Given the description of an element on the screen output the (x, y) to click on. 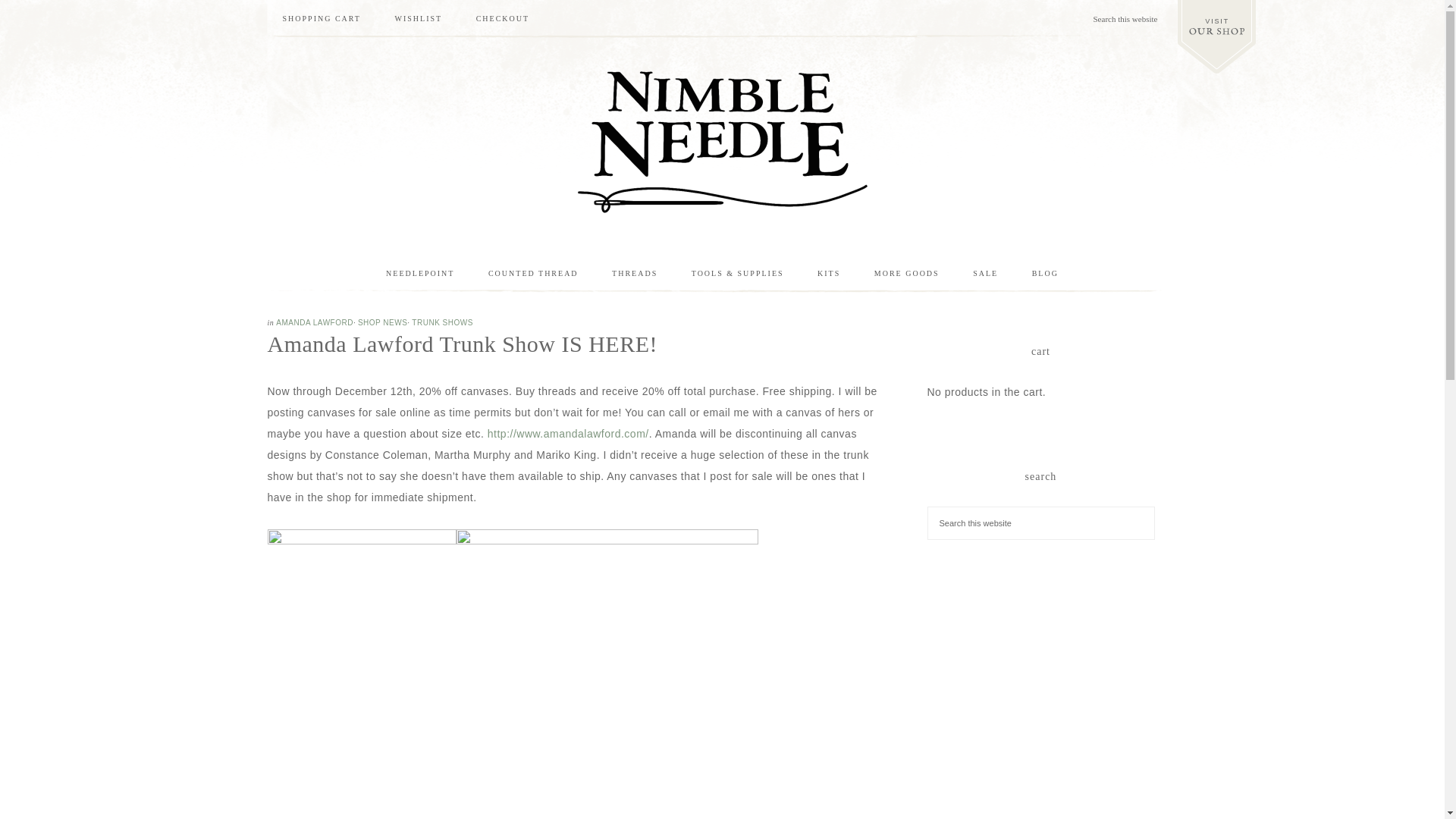
WISHLIST (417, 18)
SHOPPING CART (320, 18)
THREADS (634, 273)
COUNTED THREAD (533, 273)
CHECKOUT (502, 18)
NEEDLEPOINT (419, 273)
